Given the description of an element on the screen output the (x, y) to click on. 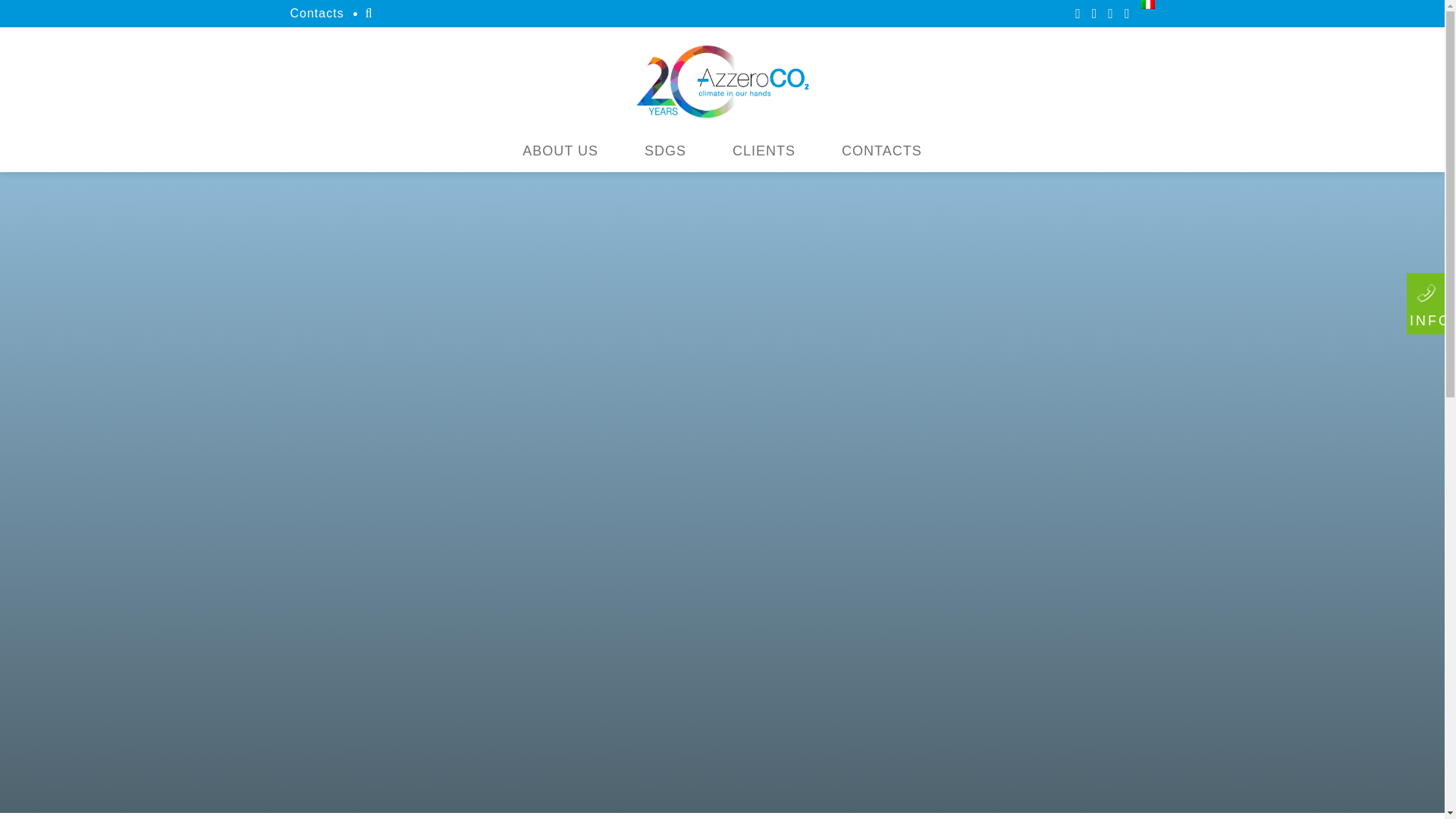
ABOUT US (560, 150)
SDGS (665, 150)
Contacts (316, 12)
CLIENTS (763, 150)
CONTACTS (882, 150)
